Given the description of an element on the screen output the (x, y) to click on. 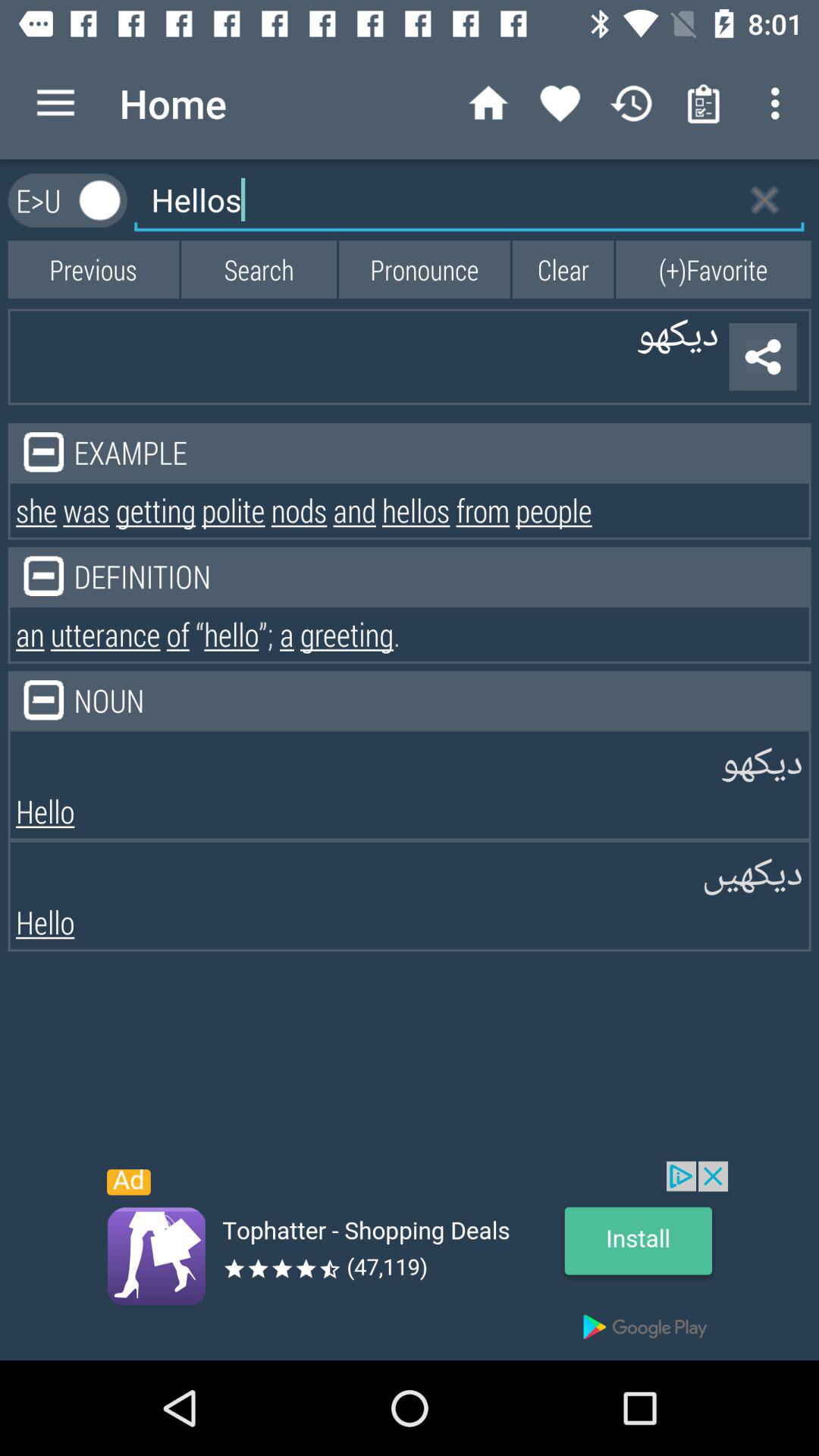
on button (100, 200)
